Given the description of an element on the screen output the (x, y) to click on. 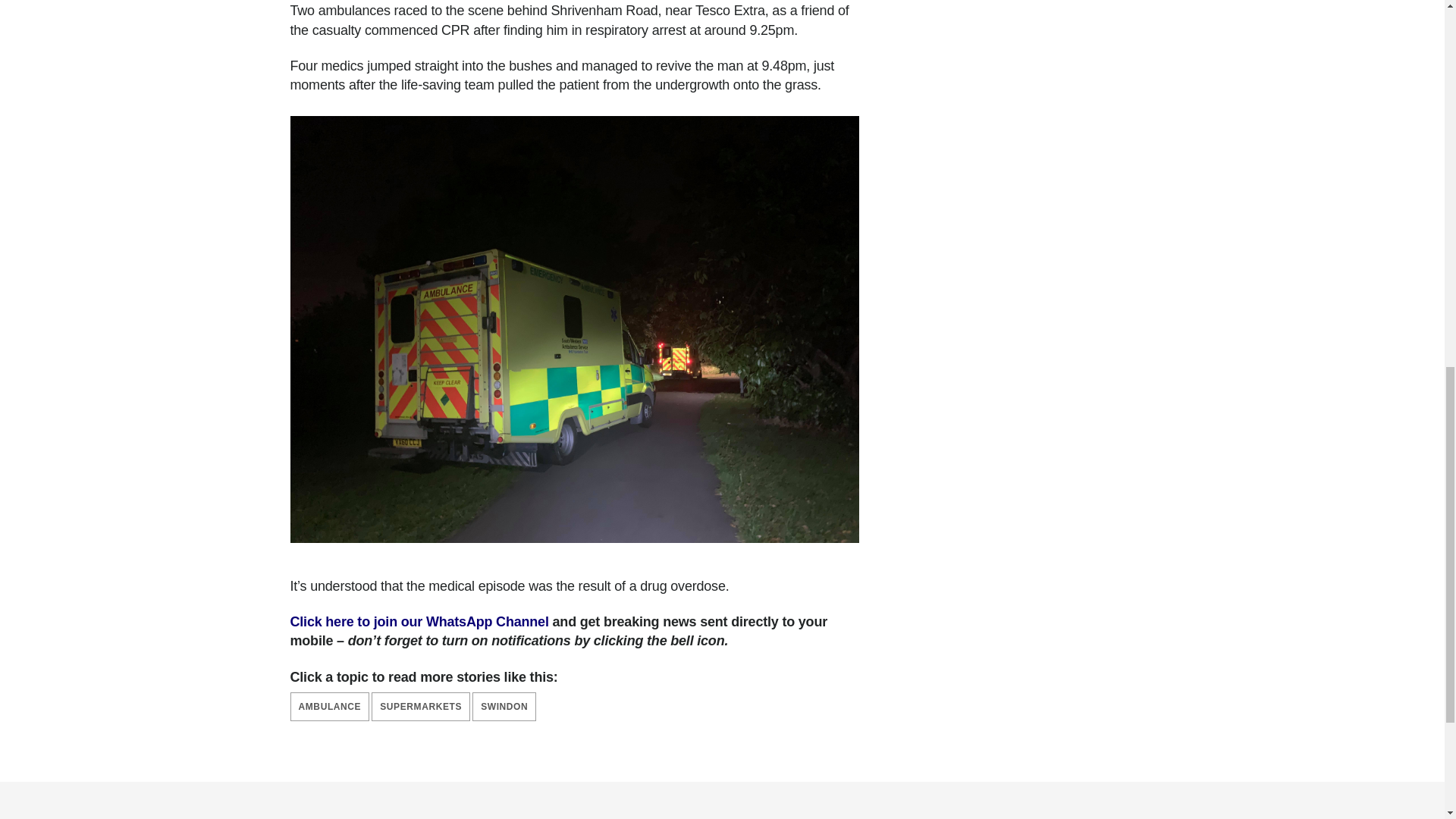
AMBULANCE (329, 706)
Click here to join our WhatsApp Channel (418, 621)
SUPERMARKETS (420, 706)
SWINDON (503, 706)
